Given the description of an element on the screen output the (x, y) to click on. 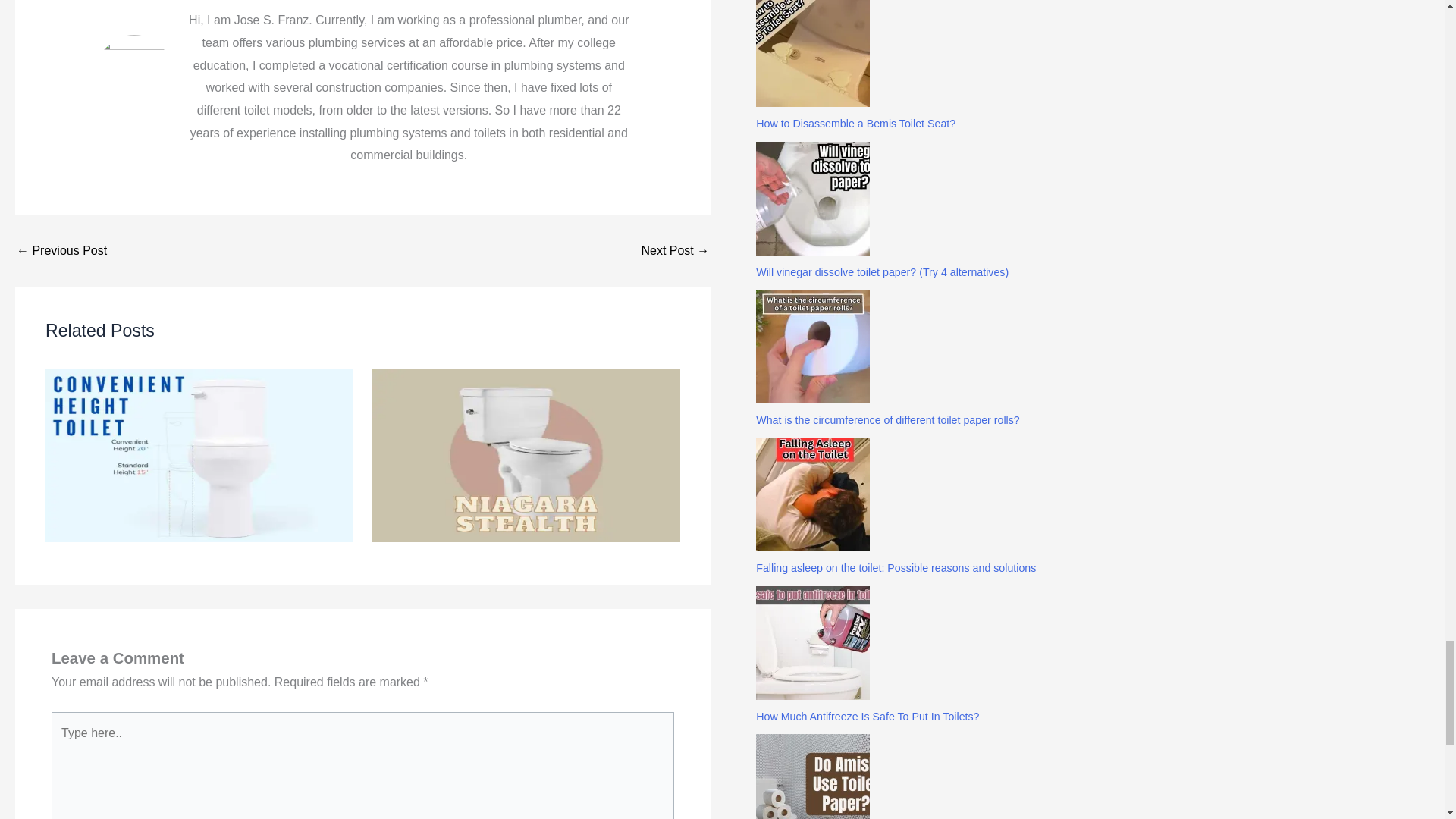
Is it safe to put soap in the toilet bowl or tank? (61, 250)
Can you empty the portable toilet at home? (674, 250)
